Given the description of an element on the screen output the (x, y) to click on. 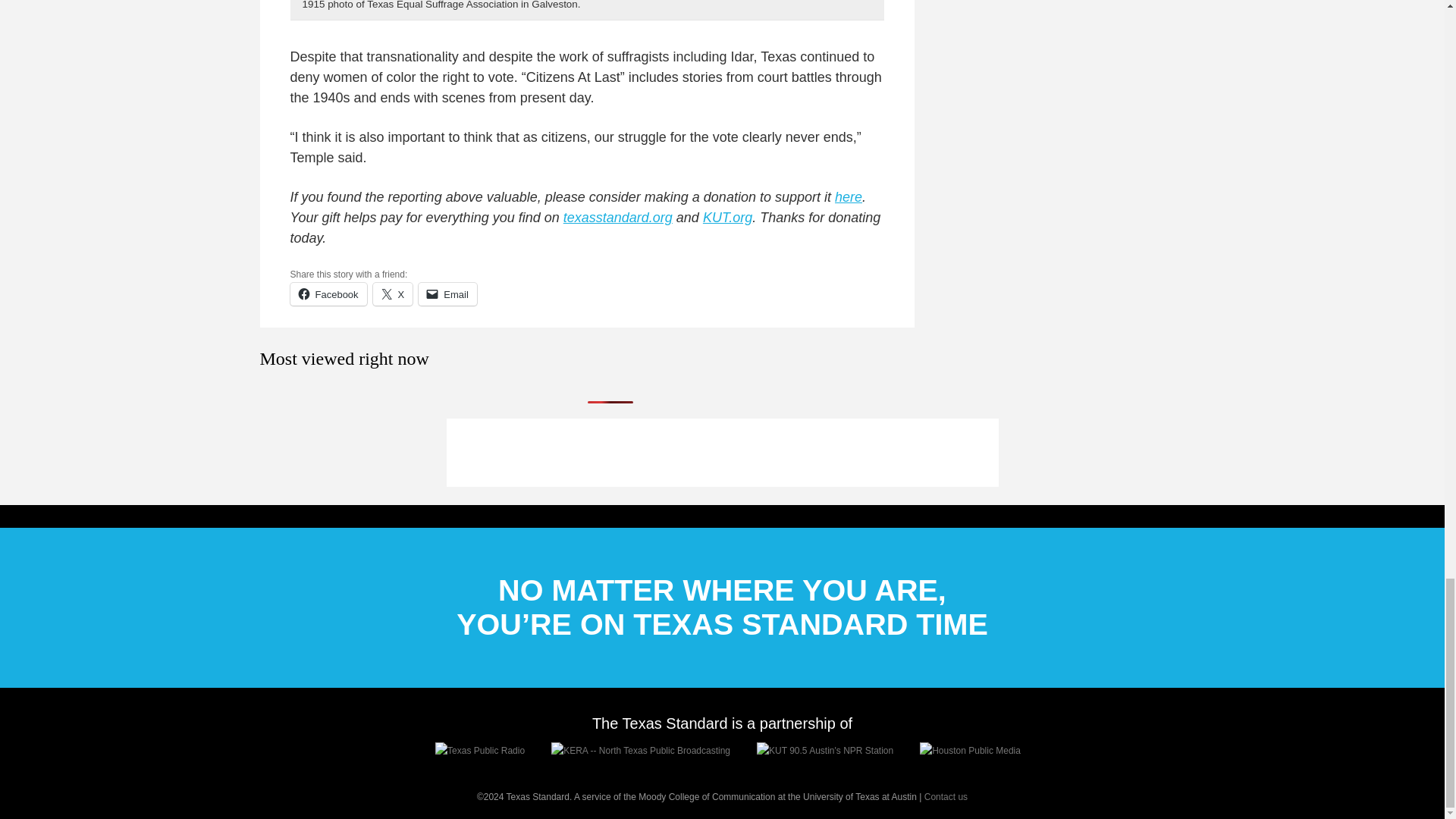
Click to share on X (392, 293)
Click to share on Facebook (327, 293)
Click to email a link to a friend (448, 293)
